Given the description of an element on the screen output the (x, y) to click on. 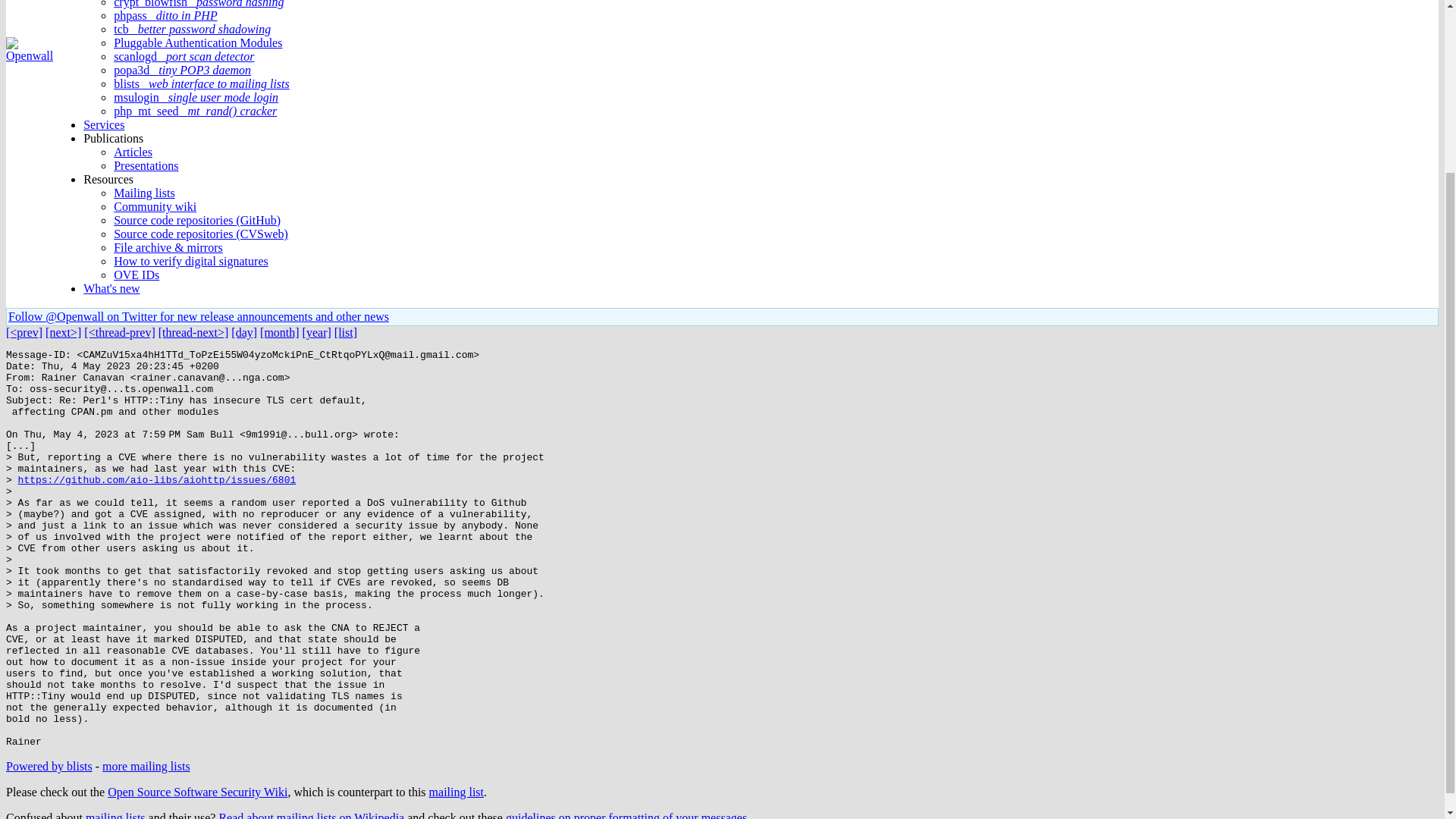
Publications (112, 137)
Community wiki (154, 205)
msulogin   single user mode login (195, 97)
How to verify digital signatures (190, 260)
scanlogd   port scan detector (183, 56)
Mailing lists (143, 192)
Resources (107, 178)
phpass   ditto in PHP (164, 15)
tcb   better password shadowing (191, 29)
Pluggable Authentication Modules (197, 42)
Presentations (145, 164)
What's new (110, 287)
popa3d   tiny POP3 daemon (181, 69)
Articles (132, 151)
OVE IDs (135, 274)
